Given the description of an element on the screen output the (x, y) to click on. 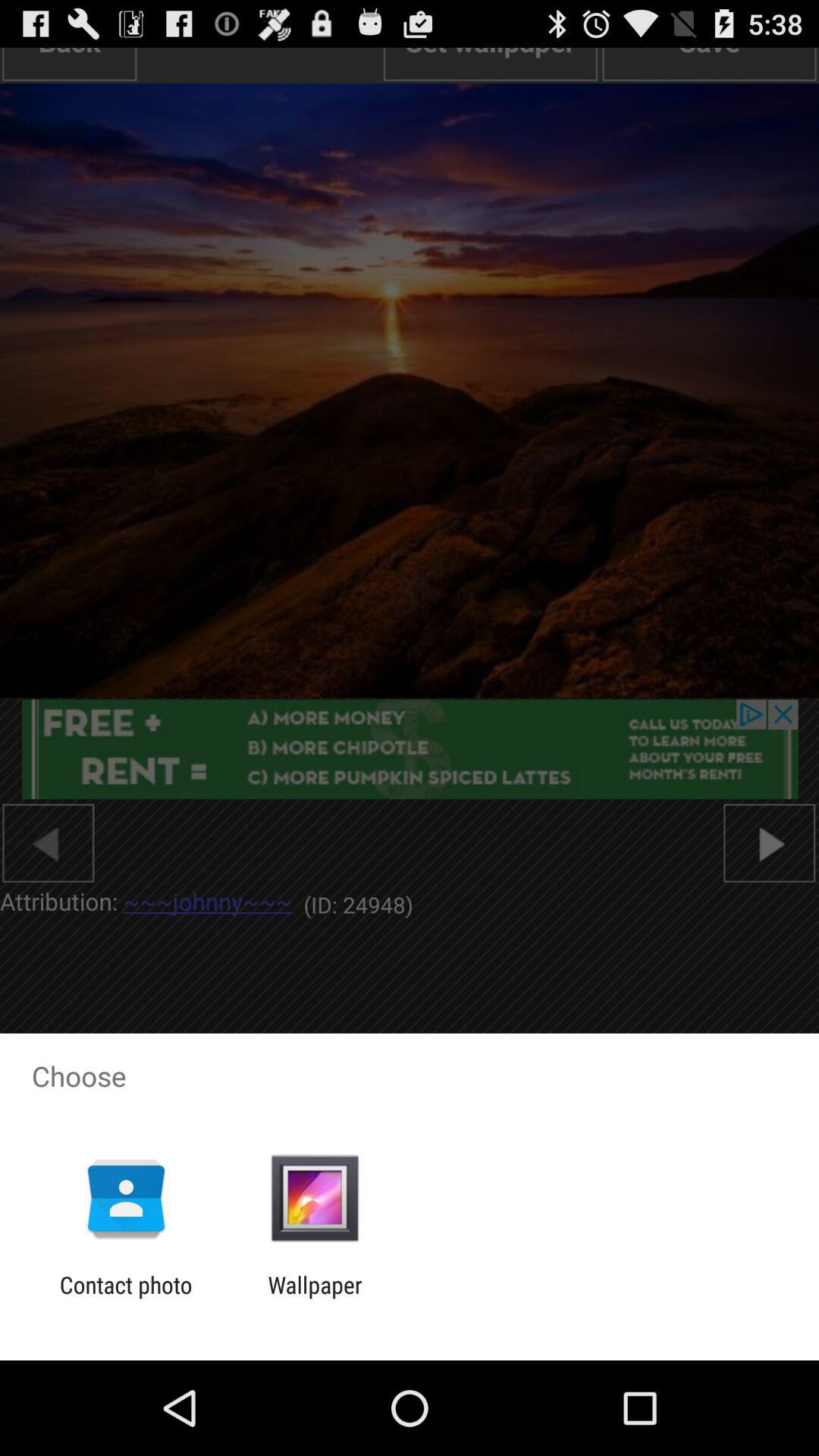
select the app to the left of wallpaper app (125, 1298)
